Given the description of an element on the screen output the (x, y) to click on. 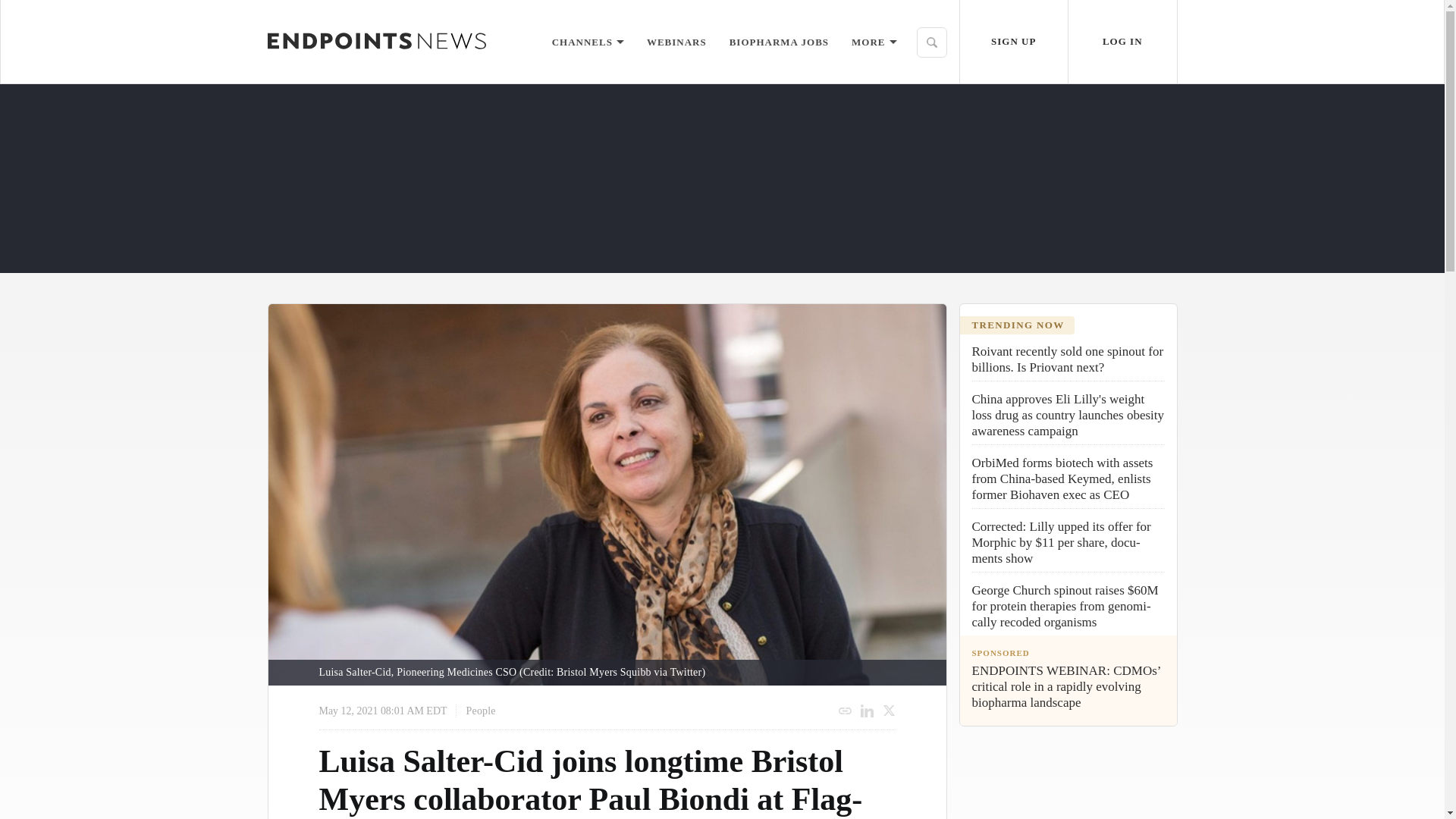
WEBINARS (676, 41)
BIOPHARMA JOBS (778, 41)
